Given the description of an element on the screen output the (x, y) to click on. 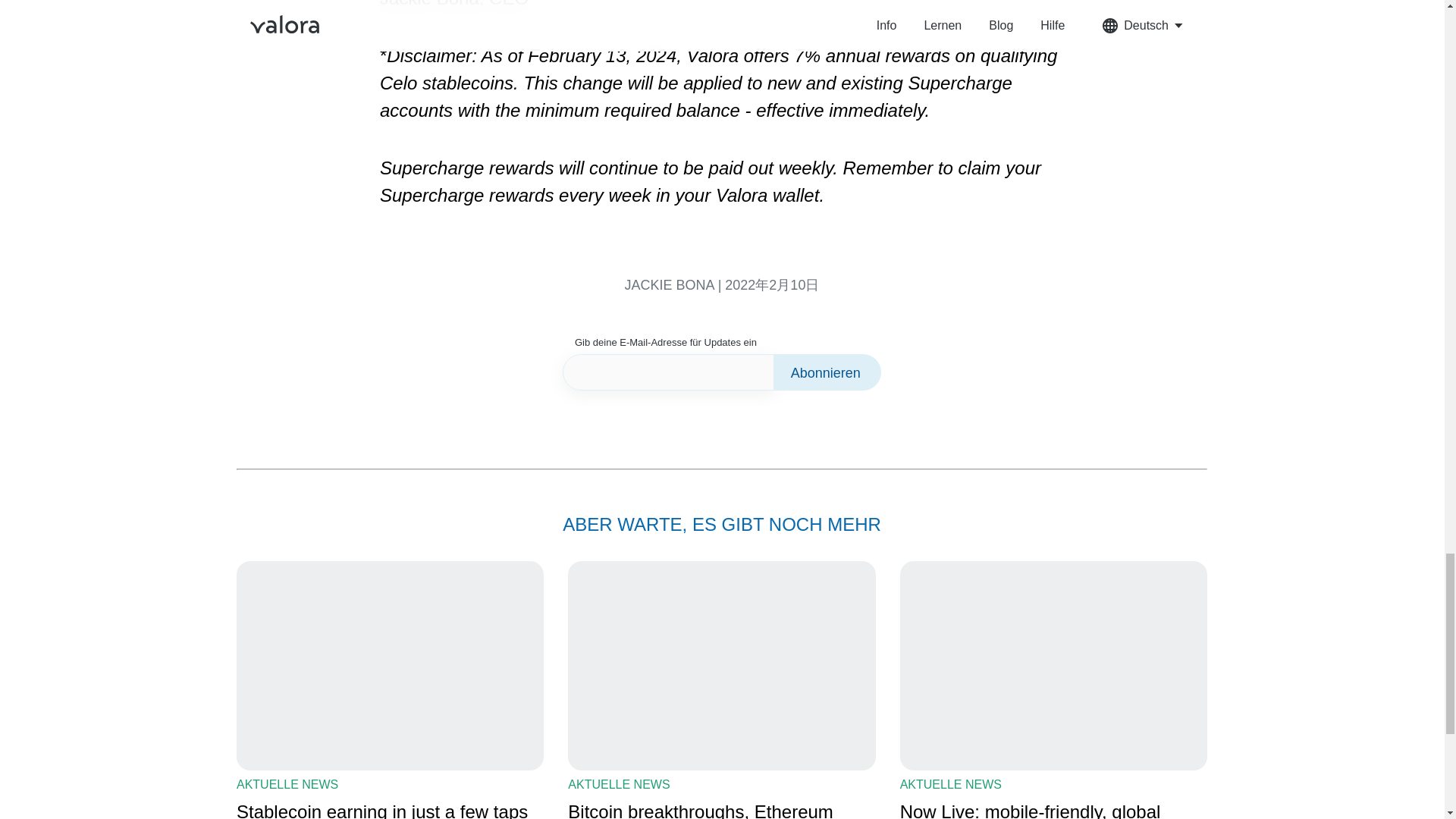
Abonnieren (827, 371)
Stablecoin earning in just a few taps (389, 809)
